Given the description of an element on the screen output the (x, y) to click on. 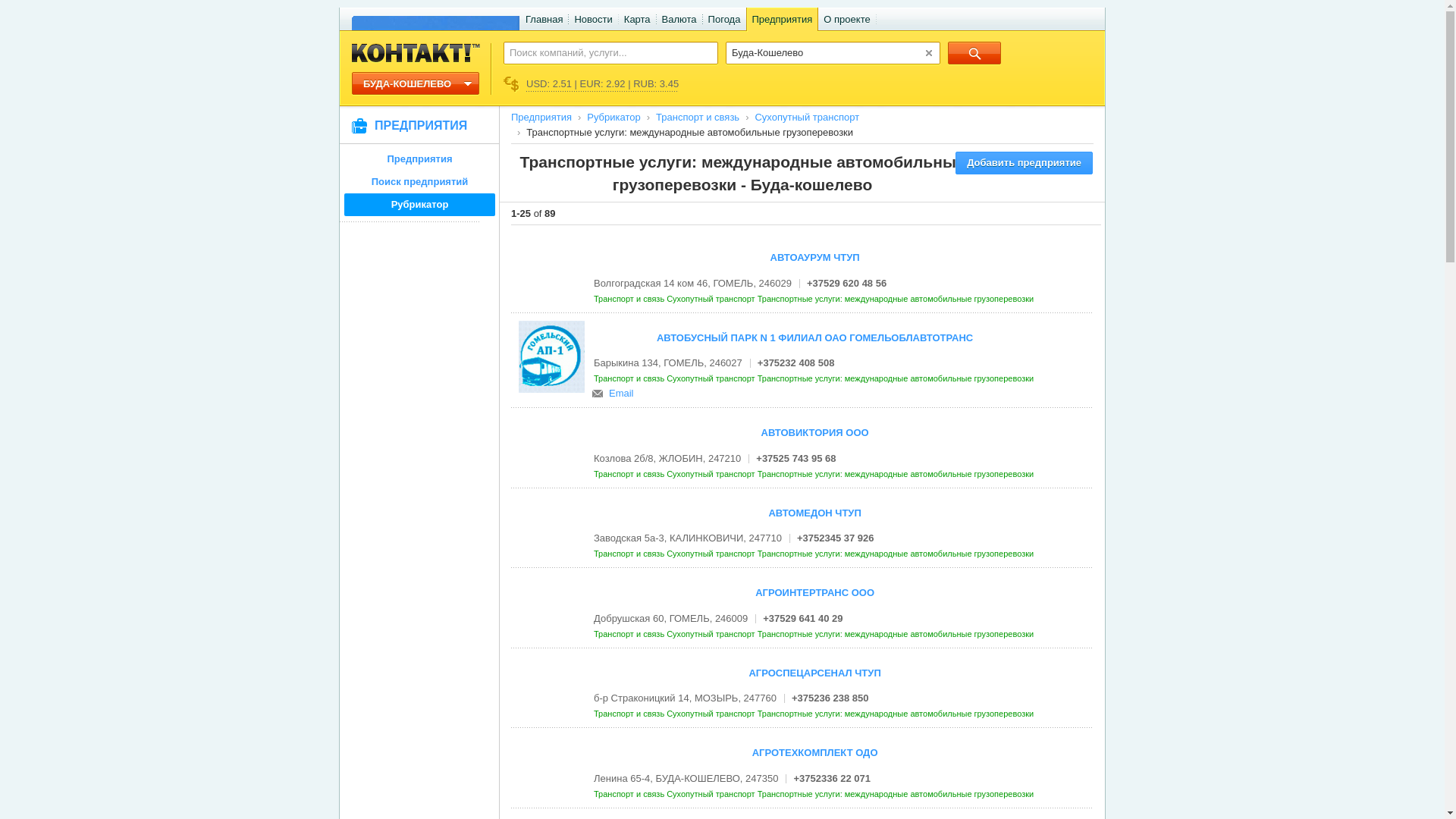
Email Element type: text (620, 392)
USD: 2.51 | EUR: 2.92 | RUB: 3.45 Element type: text (590, 84)
